Given the description of an element on the screen output the (x, y) to click on. 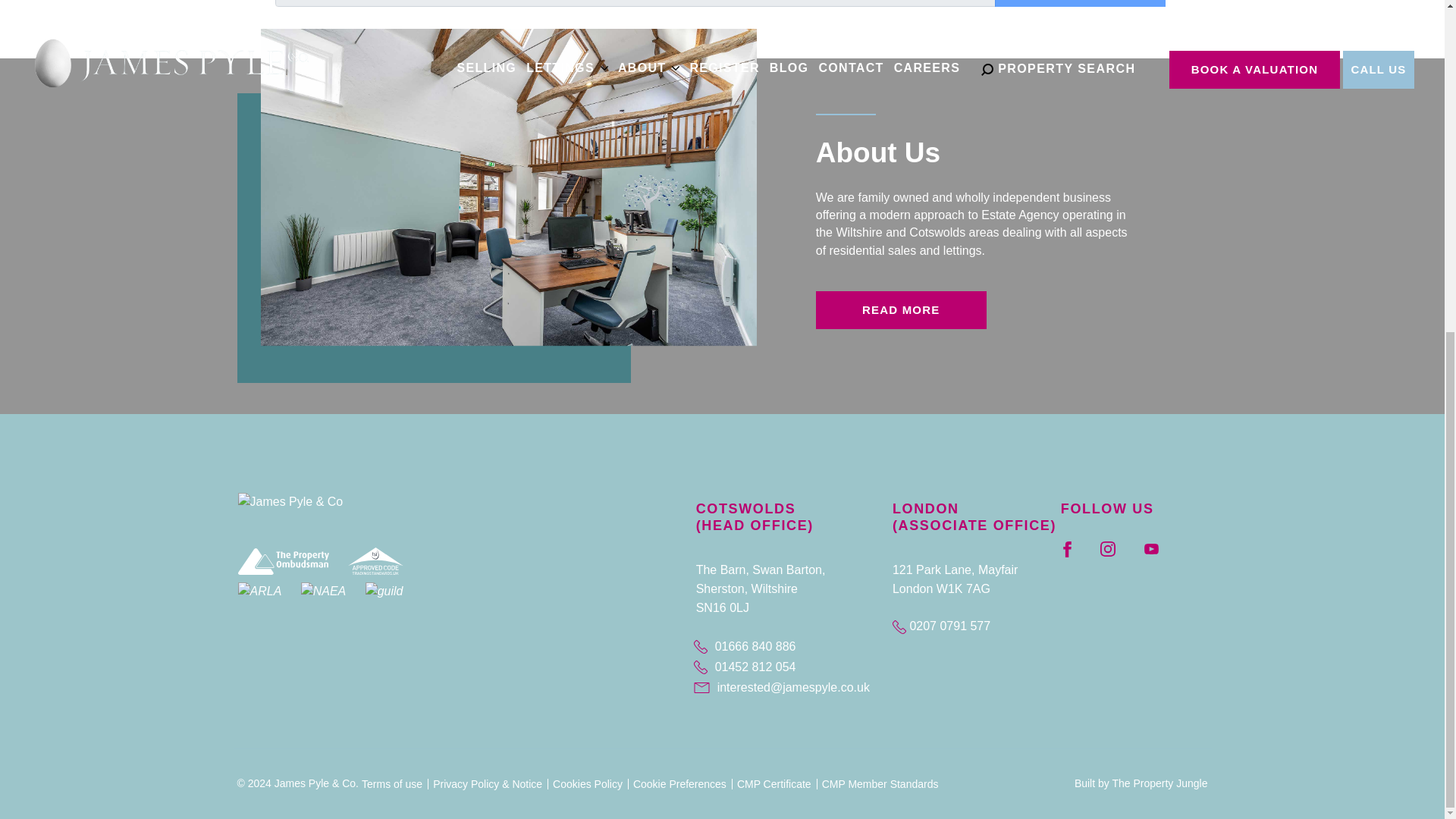
Terms of use (391, 784)
01666 840 886 (789, 647)
SEARCH (1080, 3)
0207 0791 577 (941, 625)
READ MORE (901, 310)
01452 812 054 (789, 667)
